Given the description of an element on the screen output the (x, y) to click on. 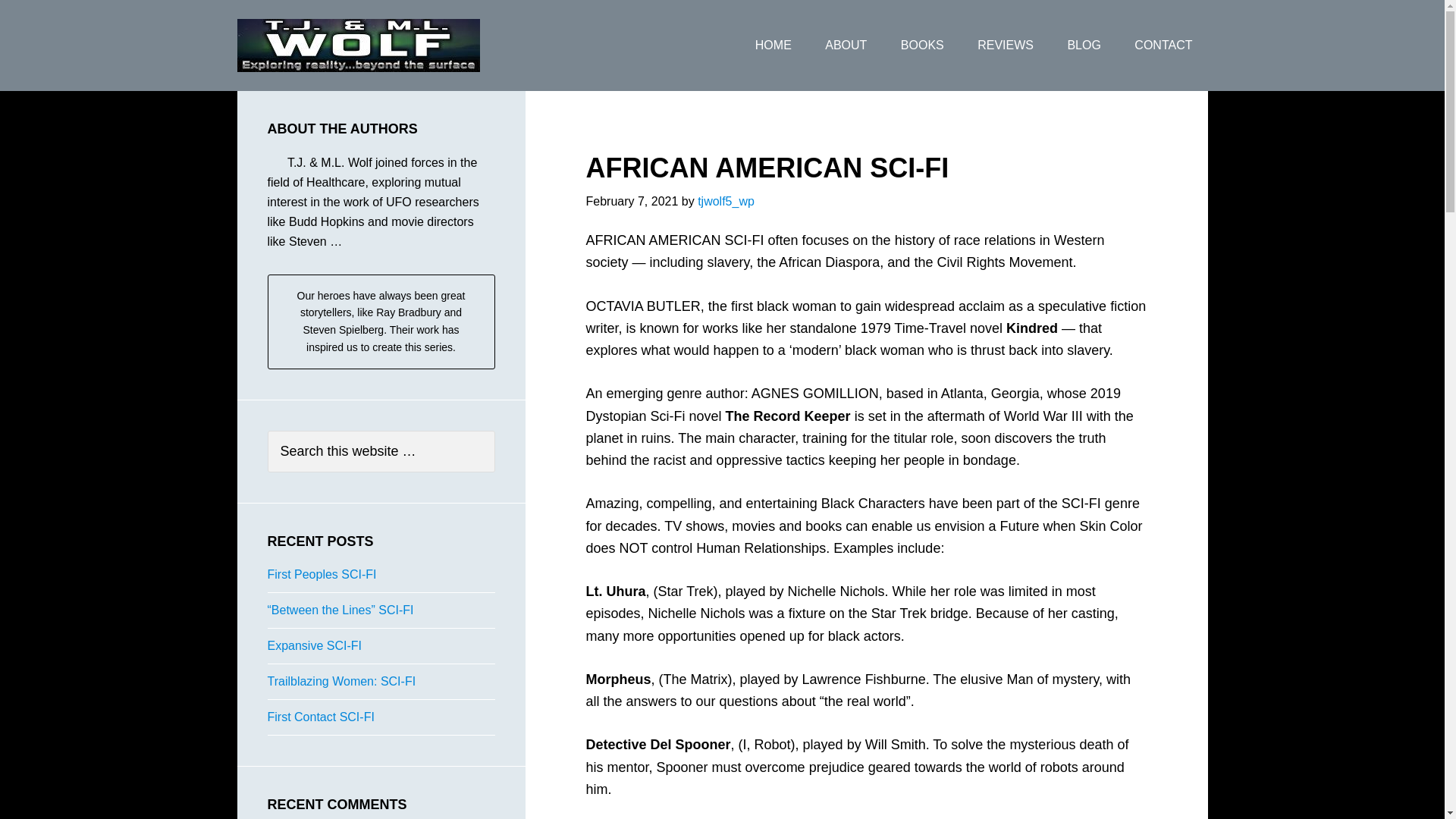
T.J.WOLF (357, 45)
CONTACT (1163, 45)
Expansive SCI-FI (313, 645)
First Contact SCI-FI (320, 716)
Trailblazing Women: SCI-FI (340, 680)
REVIEWS (1005, 45)
First Peoples SCI-FI (320, 574)
